Given the description of an element on the screen output the (x, y) to click on. 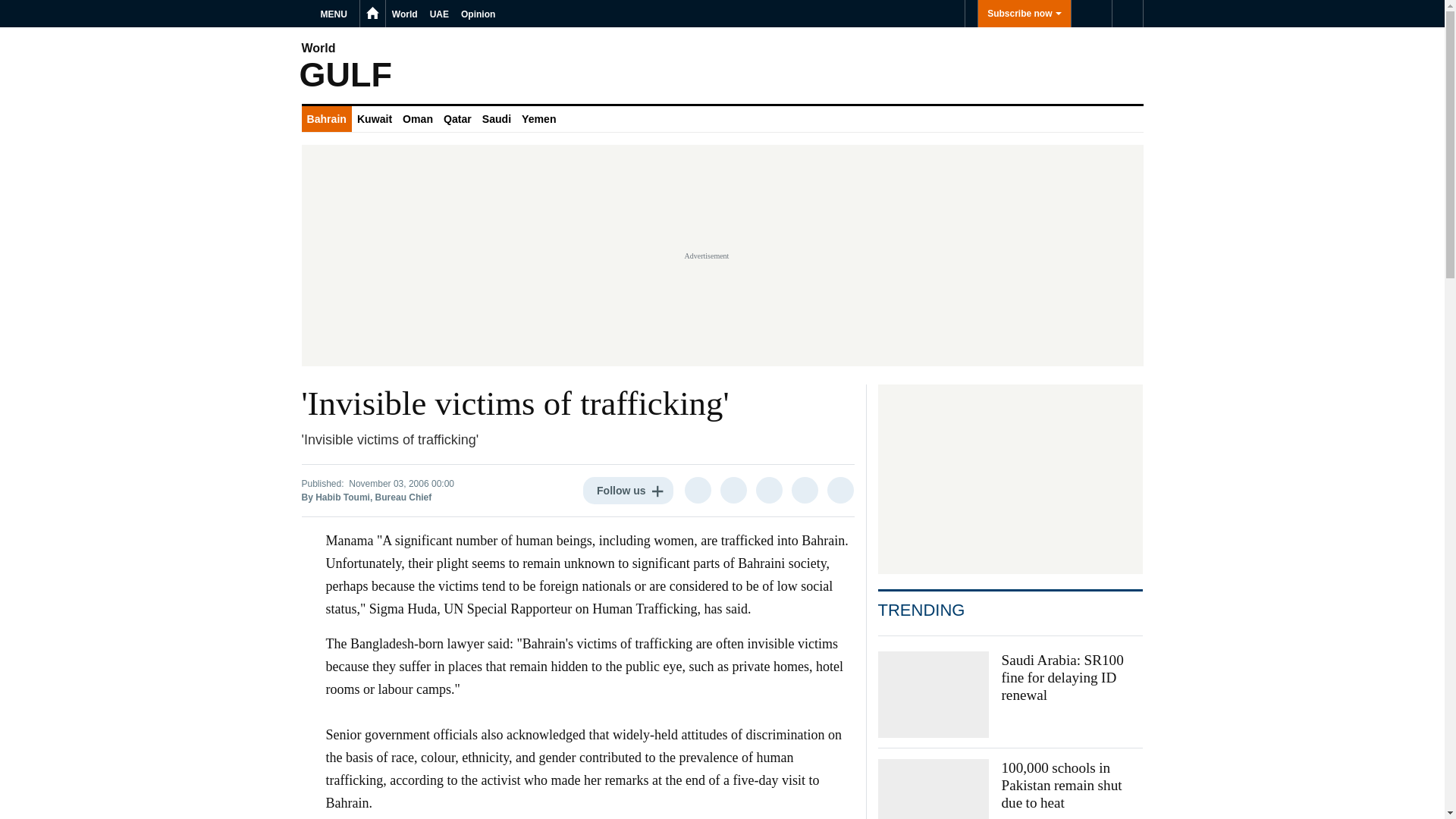
MENU (336, 13)
Opinion (477, 13)
Subscribe now (1024, 13)
UAE (438, 13)
World (404, 13)
